Given the description of an element on the screen output the (x, y) to click on. 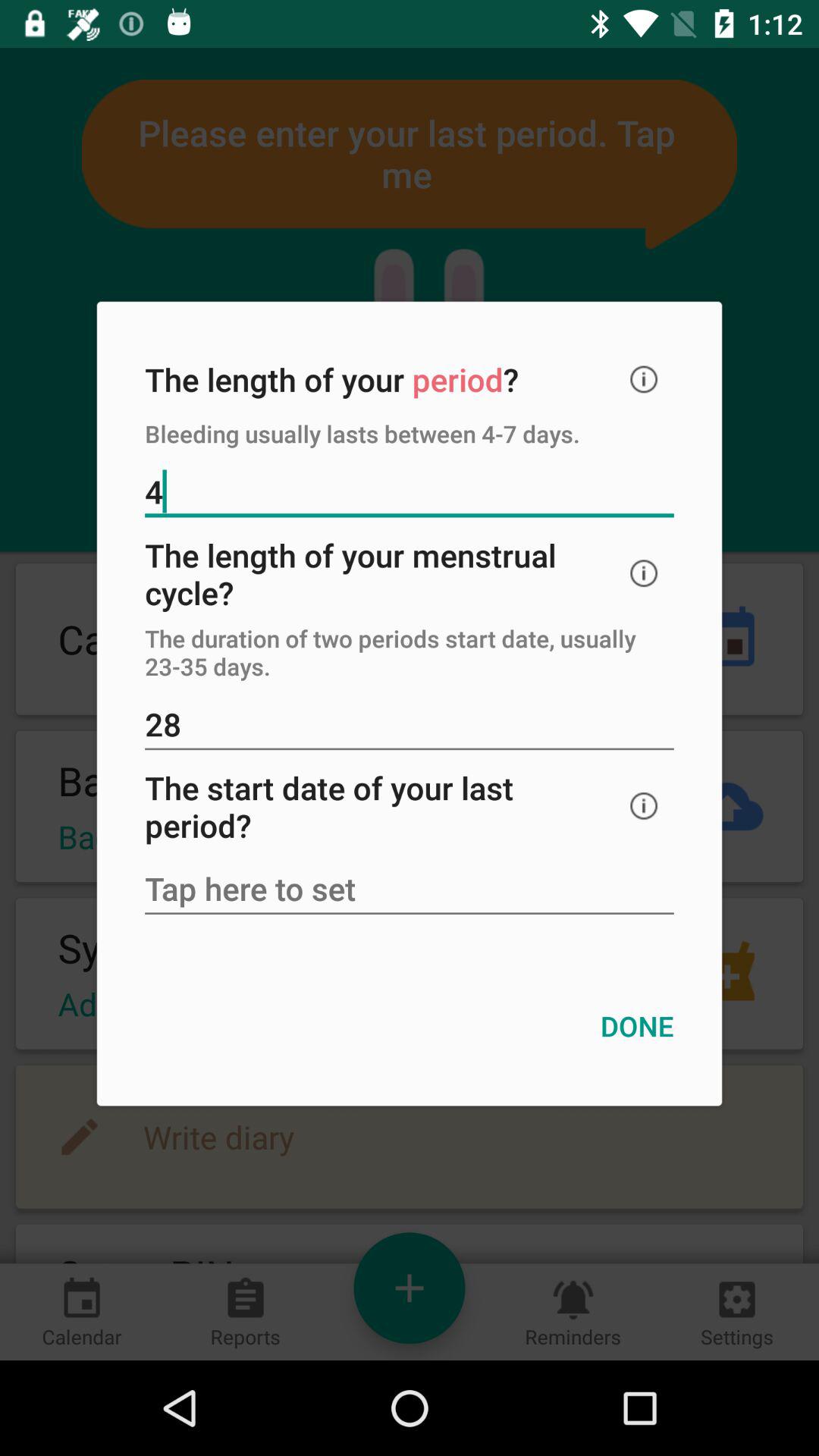
jump until the 28 icon (409, 726)
